Given the description of an element on the screen output the (x, y) to click on. 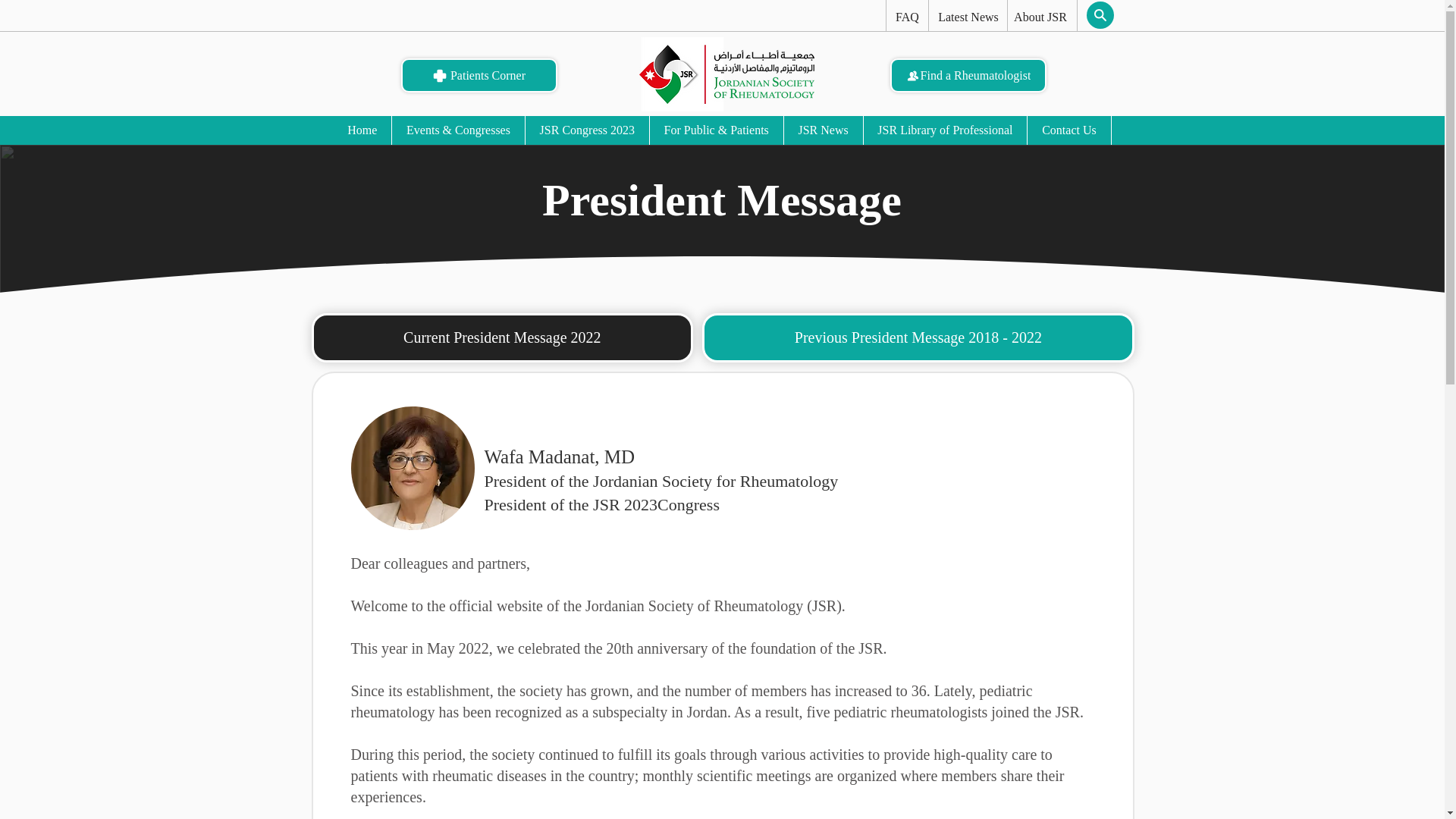
Find a Rheumatologist (967, 75)
FAQ (906, 16)
Home (363, 130)
About JSR (1039, 16)
Latest News (968, 16)
Patients Corner (478, 75)
